Given the description of an element on the screen output the (x, y) to click on. 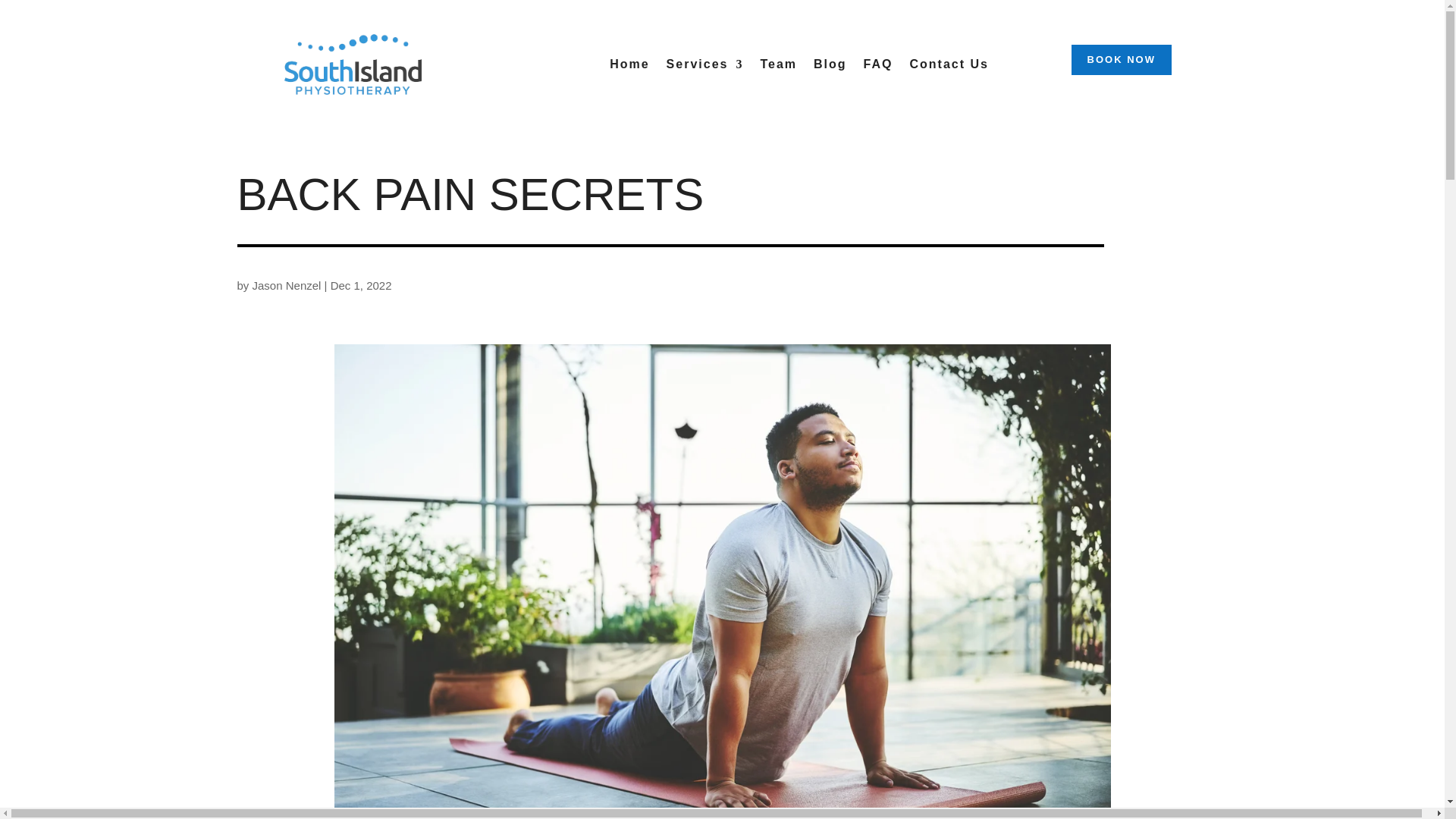
BOOK NOW (1121, 60)
Posts by Jason Nenzel (286, 285)
Home (629, 67)
Blog (830, 67)
Contact Us (949, 67)
Services (705, 67)
South-Island-Physiotherapy-logo-1 2 (352, 64)
Team (778, 67)
FAQ (878, 67)
